Given the description of an element on the screen output the (x, y) to click on. 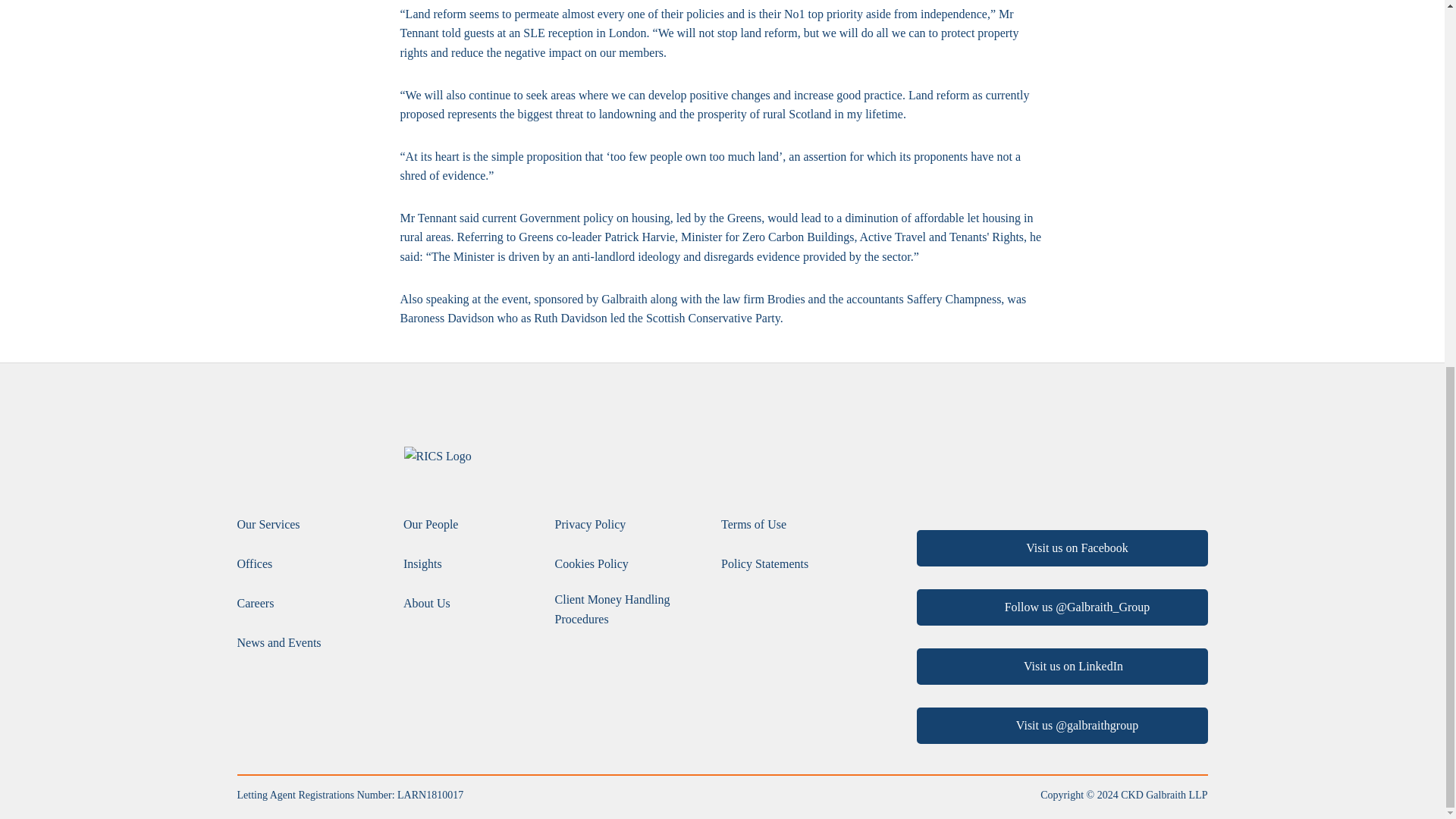
Careers (254, 603)
Privacy Policy (590, 524)
Insights (422, 564)
Offices (253, 564)
News and Events (277, 642)
Visit us on Facebook (1061, 547)
Our People (430, 524)
Visit us on LinkedIn (1061, 666)
Our Services (267, 524)
Client Money Handling Procedures (630, 608)
